Given the description of an element on the screen output the (x, y) to click on. 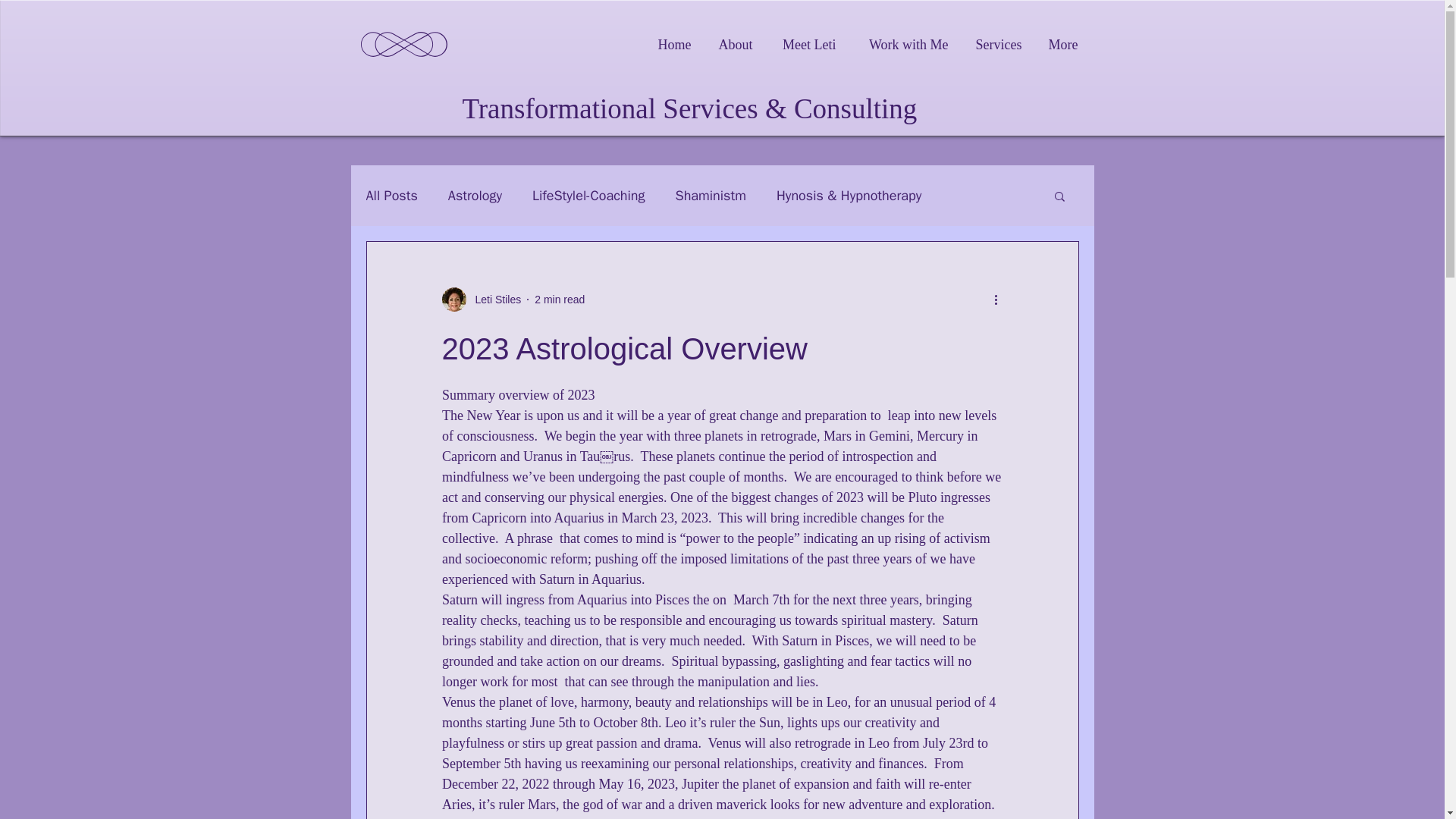
2 min read (559, 298)
Leti Stiles (493, 299)
All Posts (390, 195)
Work with Me (903, 44)
Meet Leti (805, 44)
LifeStylel-Coaching (588, 195)
Shaministm (710, 195)
Astrology (475, 195)
Leti Stiles (481, 299)
Home (671, 44)
About (731, 44)
